Given the description of an element on the screen output the (x, y) to click on. 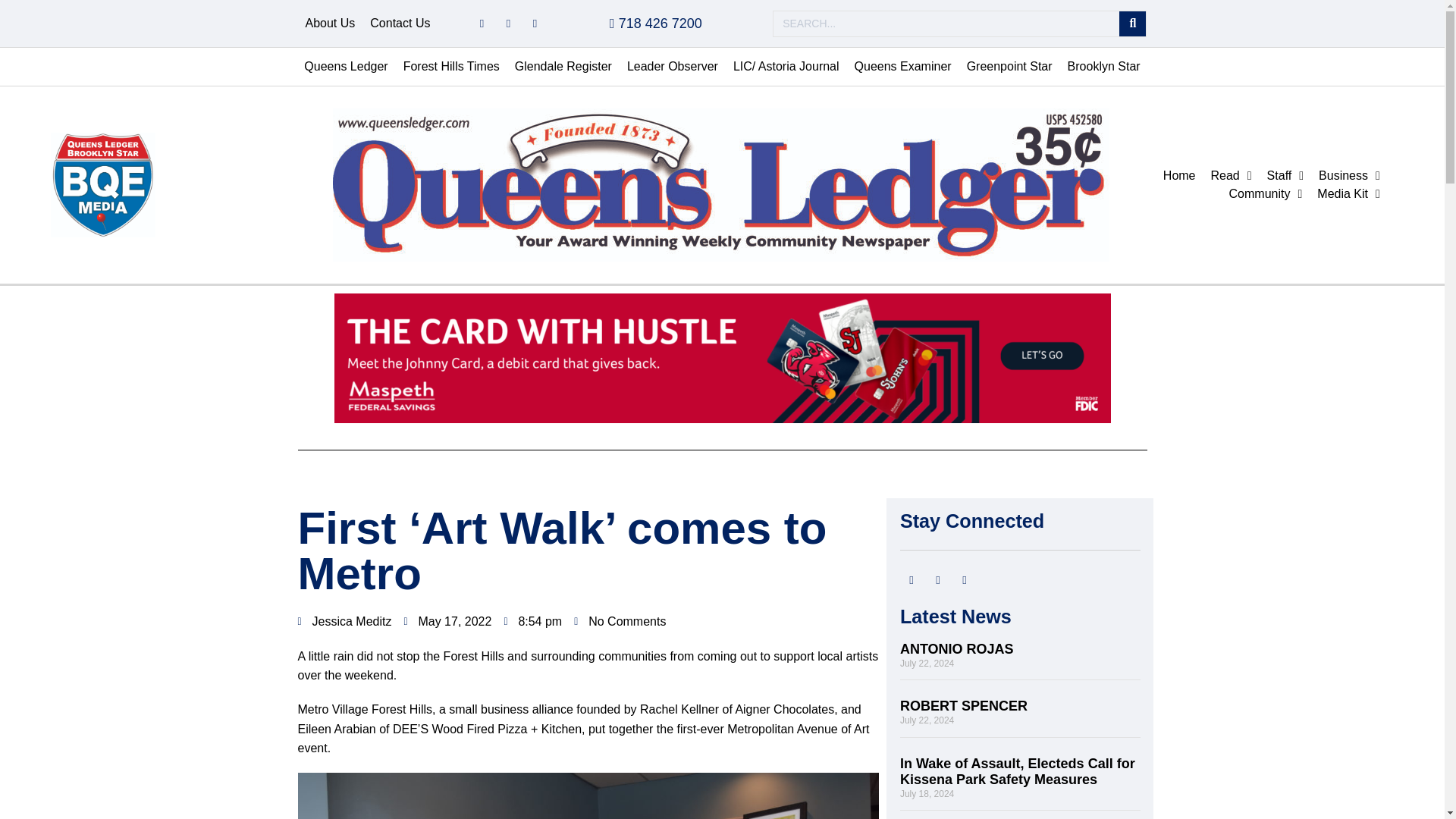
About Us (329, 23)
Queens Ledger (345, 66)
Queens Examiner (903, 66)
Brooklyn Star (1103, 66)
Leader Observer (672, 66)
Contact Us (400, 23)
Forest Hills Times (451, 66)
Home (1180, 176)
718 426 7200 (655, 23)
Read (1231, 176)
Greenpoint Star (1009, 66)
Glendale Register (563, 66)
